Given the description of an element on the screen output the (x, y) to click on. 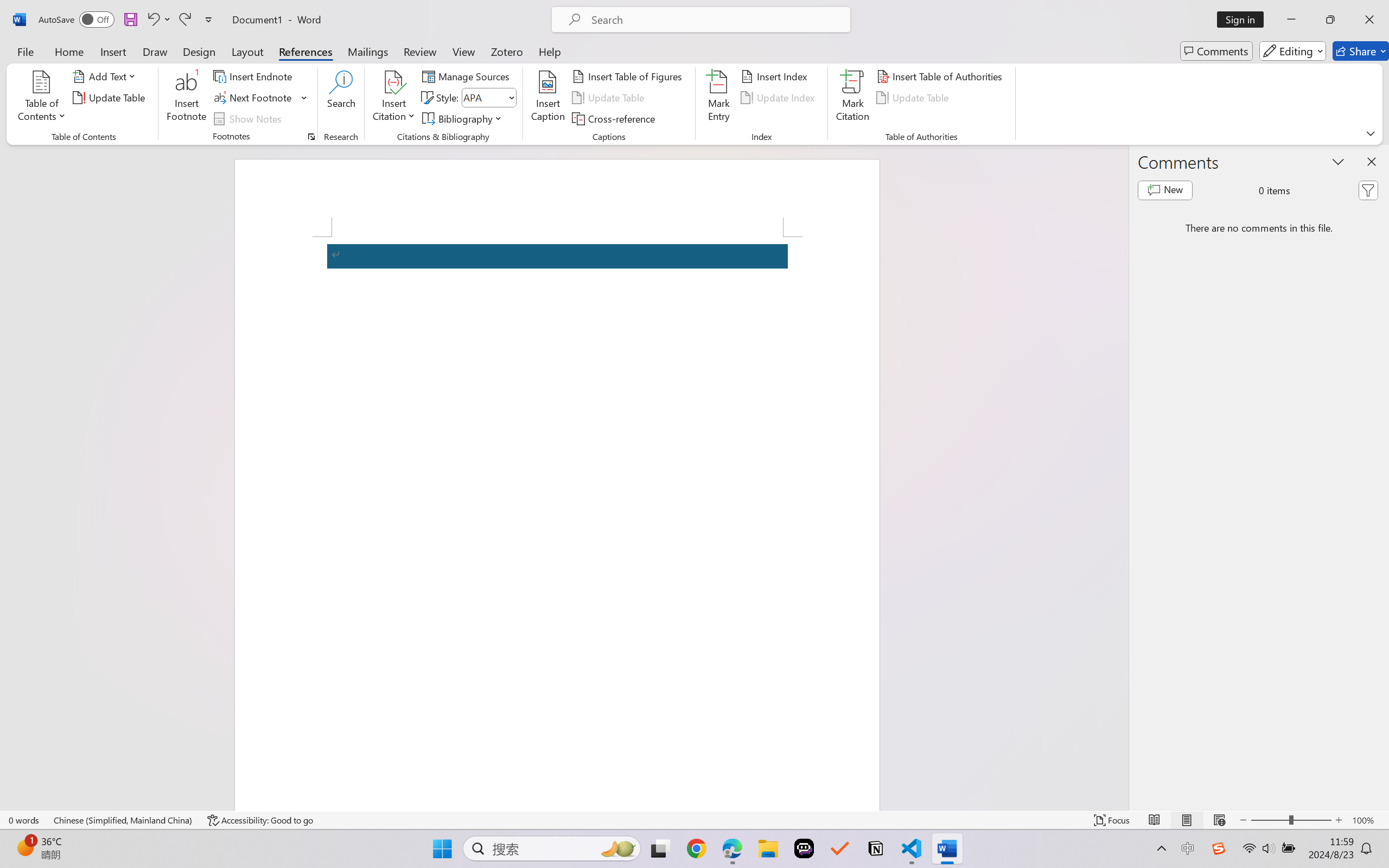
Mark Citation... (852, 97)
Mark Entry... (718, 97)
Undo Apply Quick Style Set (158, 19)
Show Notes (248, 118)
Next Footnote (253, 97)
